Given the description of an element on the screen output the (x, y) to click on. 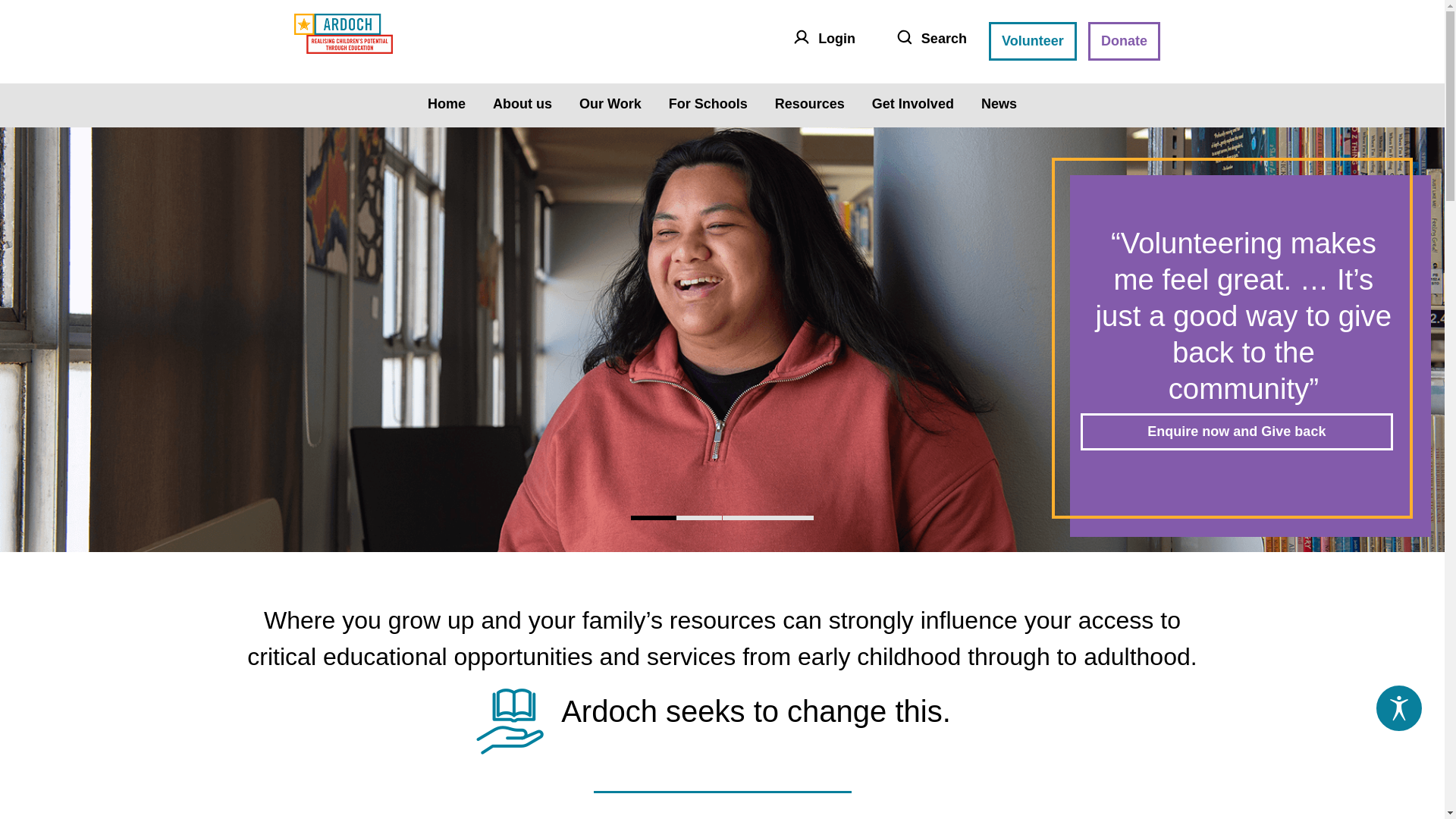
Slide of Element type: text (790, 517)
Donate Element type: text (1124, 40)
Slide of Element type: text (698, 517)
Resources Element type: text (809, 103)
Volunteer Element type: text (1032, 40)
Home Element type: text (446, 103)
News Element type: text (998, 103)
Enquire now and join the fun Element type: text (1236, 395)
Search Element type: text (927, 40)
Slide of Element type: text (745, 517)
Get Involved Element type: text (912, 103)
Enquire Now to feel rewarded Element type: text (1236, 431)
Login Element type: text (820, 40)
About us Element type: text (522, 103)
Our Work Element type: text (610, 103)
Slide of Element type: text (653, 517)
For Schools Element type: text (707, 103)
